Given the description of an element on the screen output the (x, y) to click on. 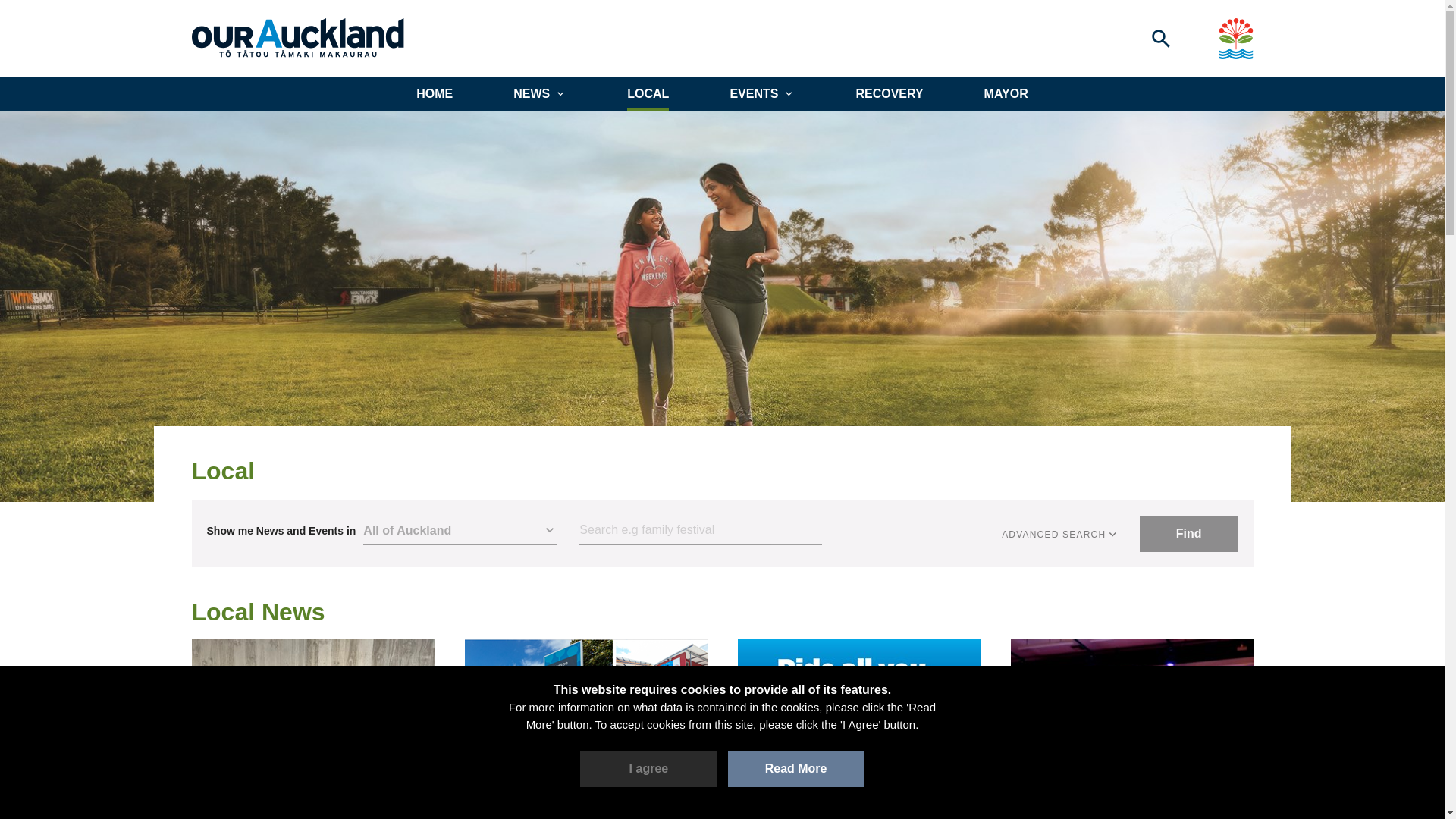
MAYOR (1005, 93)
NEWS (539, 93)
LOCAL (647, 93)
Toggle search (1160, 38)
Find (1189, 533)
EVENTS (761, 93)
COMMUNITY (506, 795)
ADVANCED SEARCH (1060, 534)
Search (700, 530)
